Given the description of an element on the screen output the (x, y) to click on. 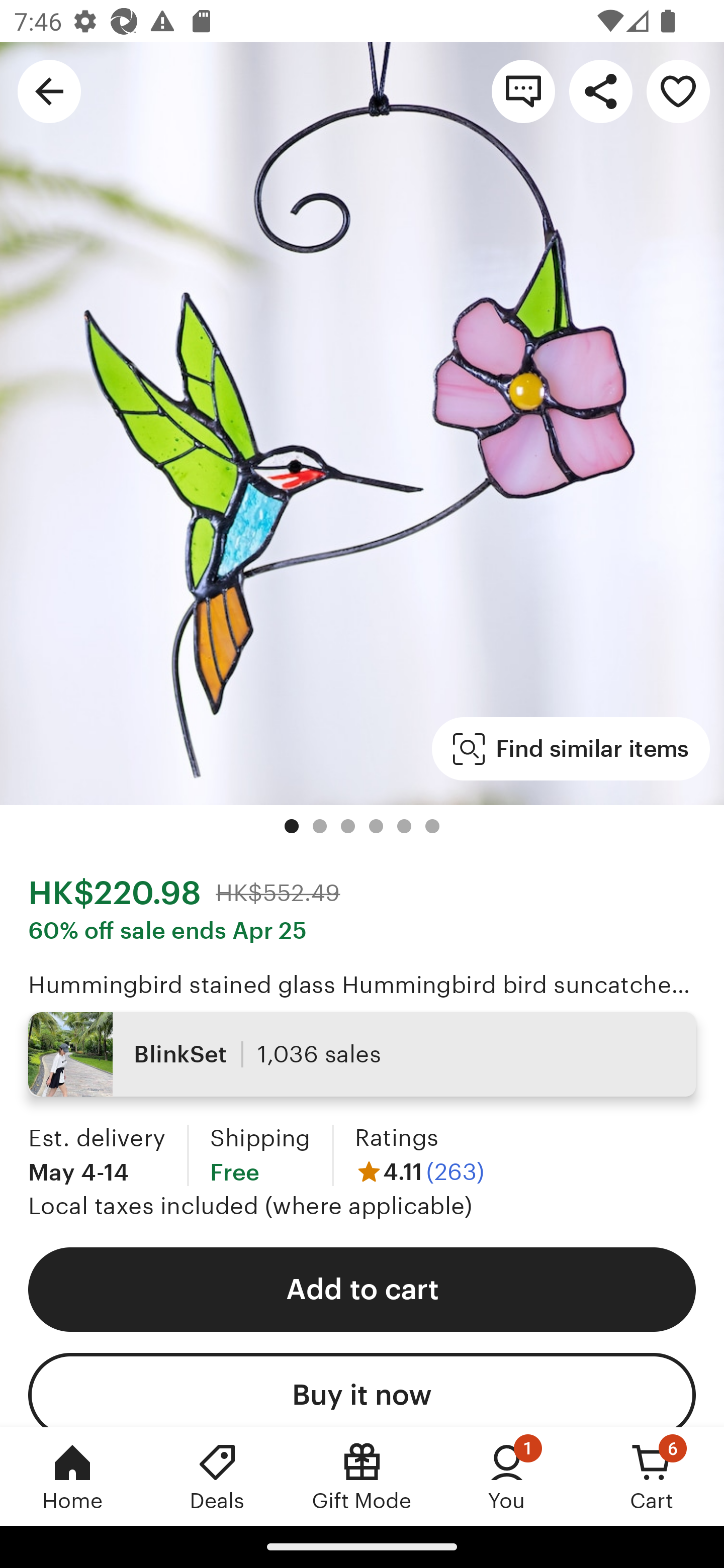
Navigate up (49, 90)
Contact shop (523, 90)
Share (600, 90)
Find similar items (571, 748)
BlinkSet 1,036 sales (361, 1054)
Ratings (396, 1137)
4.11 (263) (419, 1171)
Add to cart (361, 1289)
Buy it now (361, 1389)
Deals (216, 1475)
Gift Mode (361, 1475)
You, 1 new notification You (506, 1475)
Cart, 6 new notifications Cart (651, 1475)
